Given the description of an element on the screen output the (x, y) to click on. 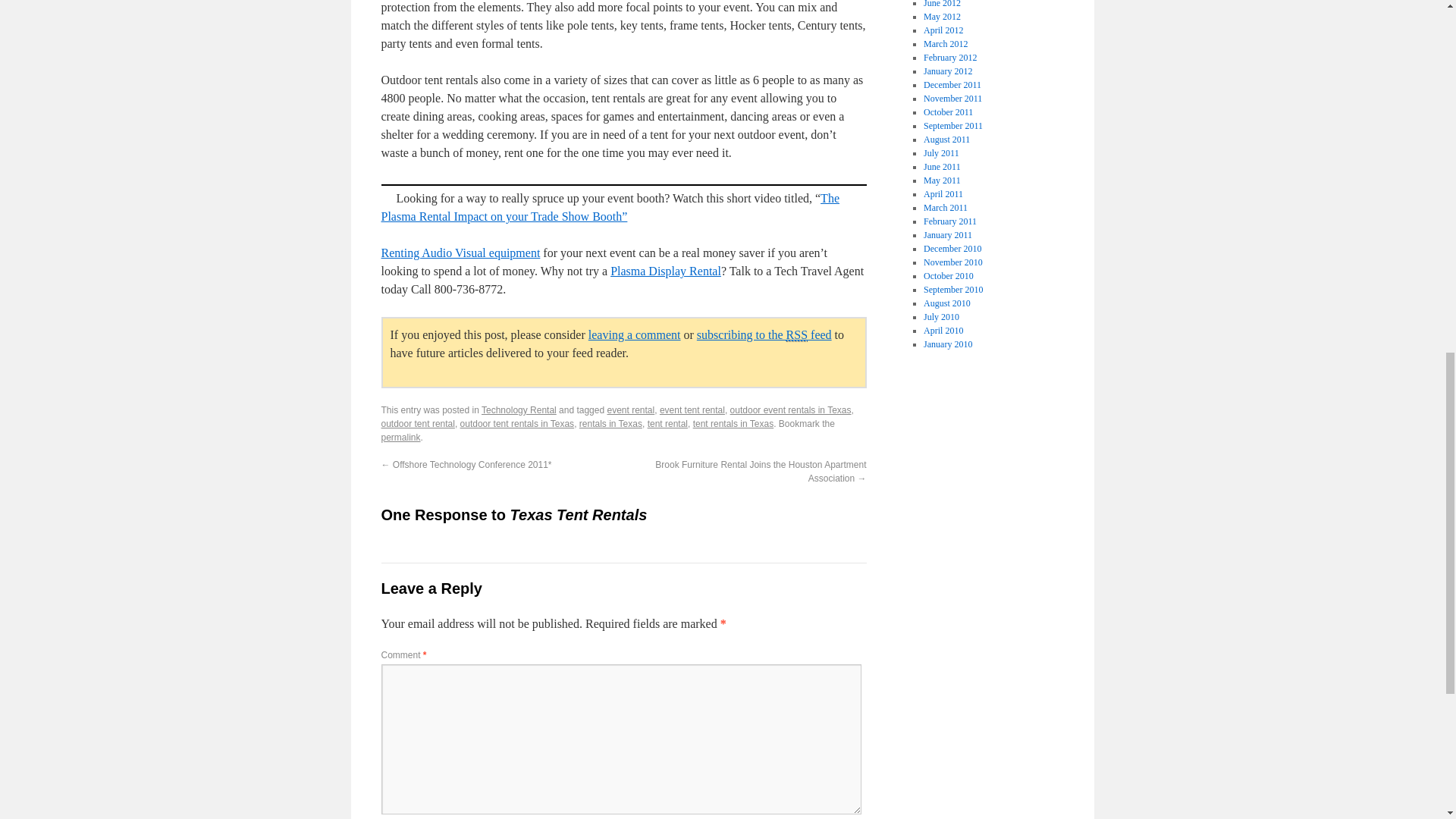
outdoor tent rental (417, 423)
Really Simple Syndication (797, 335)
leaving a comment (634, 334)
event tent rental (692, 409)
Plasma Display Rental (665, 270)
tent rental (667, 423)
Permalink to Texas Tent Rentals (400, 437)
Syndicate this site using RSS (764, 335)
Technology Rental (518, 409)
rentals in Texas (610, 423)
